Given the description of an element on the screen output the (x, y) to click on. 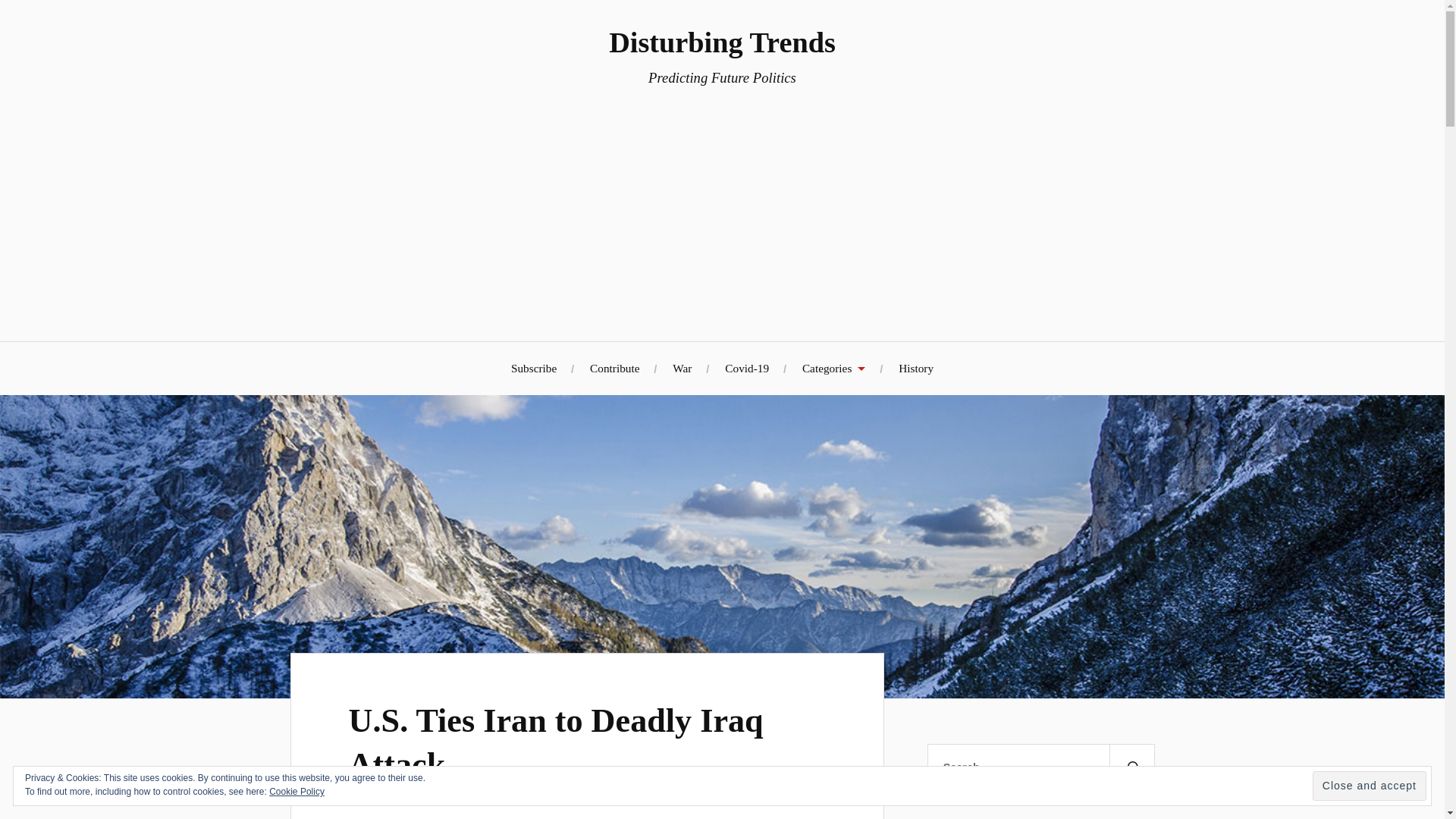
Contribute (614, 367)
Close and accept (1369, 785)
Search for: (1040, 767)
Disturbing Trends (721, 42)
Categories (833, 367)
Search (1131, 767)
